Given the description of an element on the screen output the (x, y) to click on. 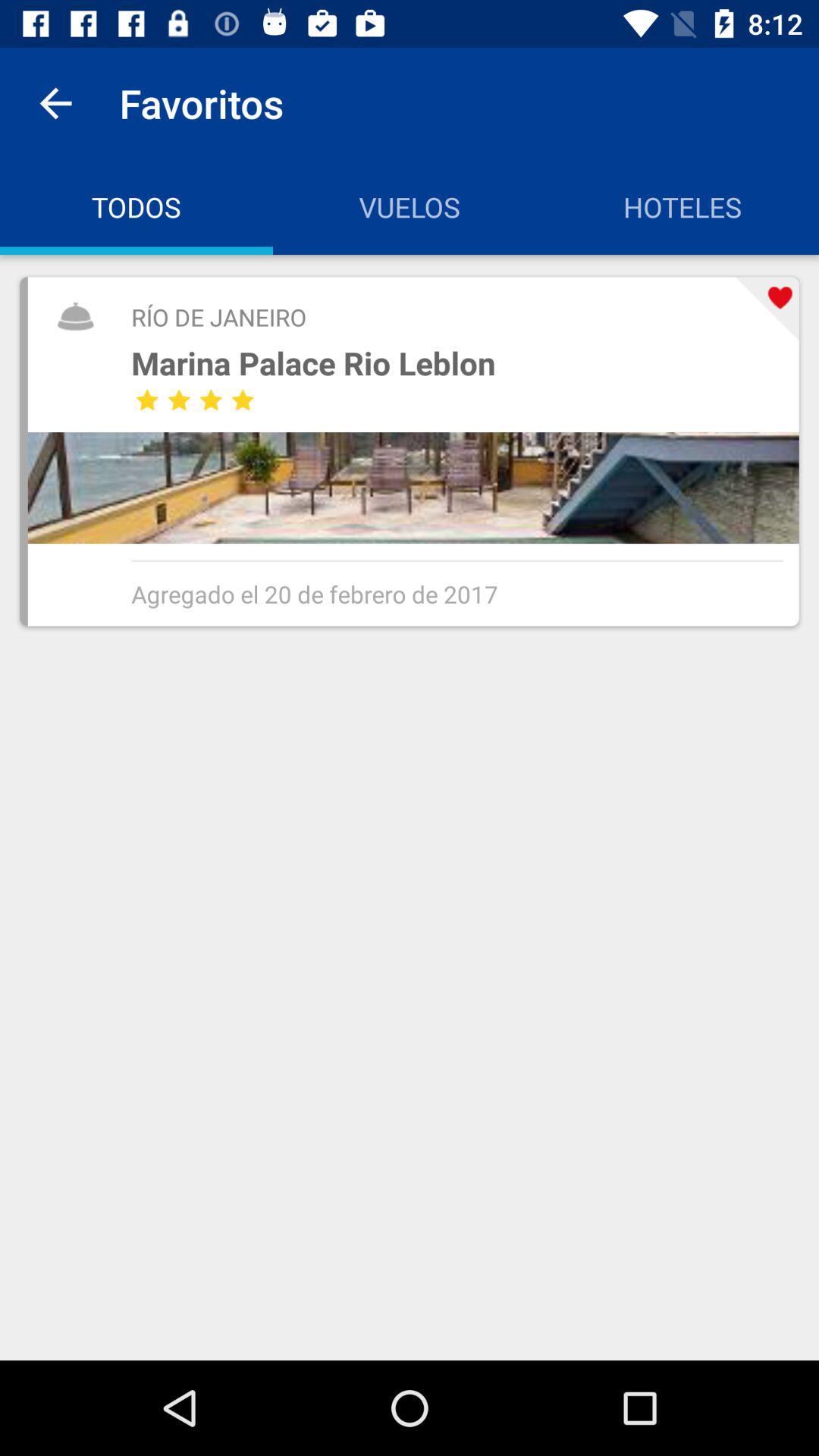
choose icon below the hoteles item (767, 308)
